Given the description of an element on the screen output the (x, y) to click on. 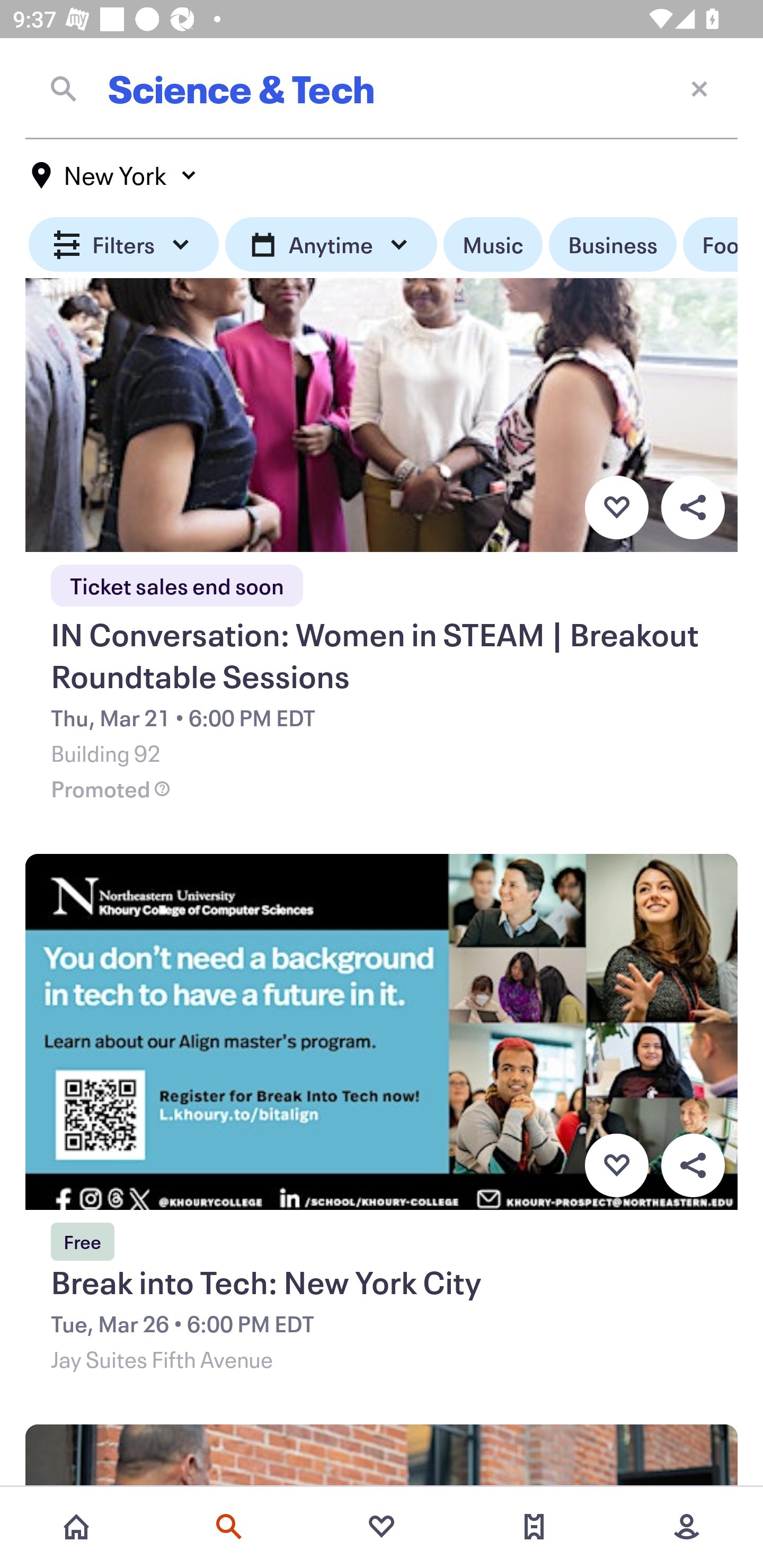
Science & Tech Close current screen (381, 88)
Close current screen (699, 88)
New York (114, 175)
Favorite button (616, 506)
Overflow menu button (692, 506)
Favorite button (616, 1165)
Overflow menu button (692, 1165)
Home (76, 1526)
Search events (228, 1526)
Favorites (381, 1526)
Tickets (533, 1526)
More (686, 1526)
